Given the description of an element on the screen output the (x, y) to click on. 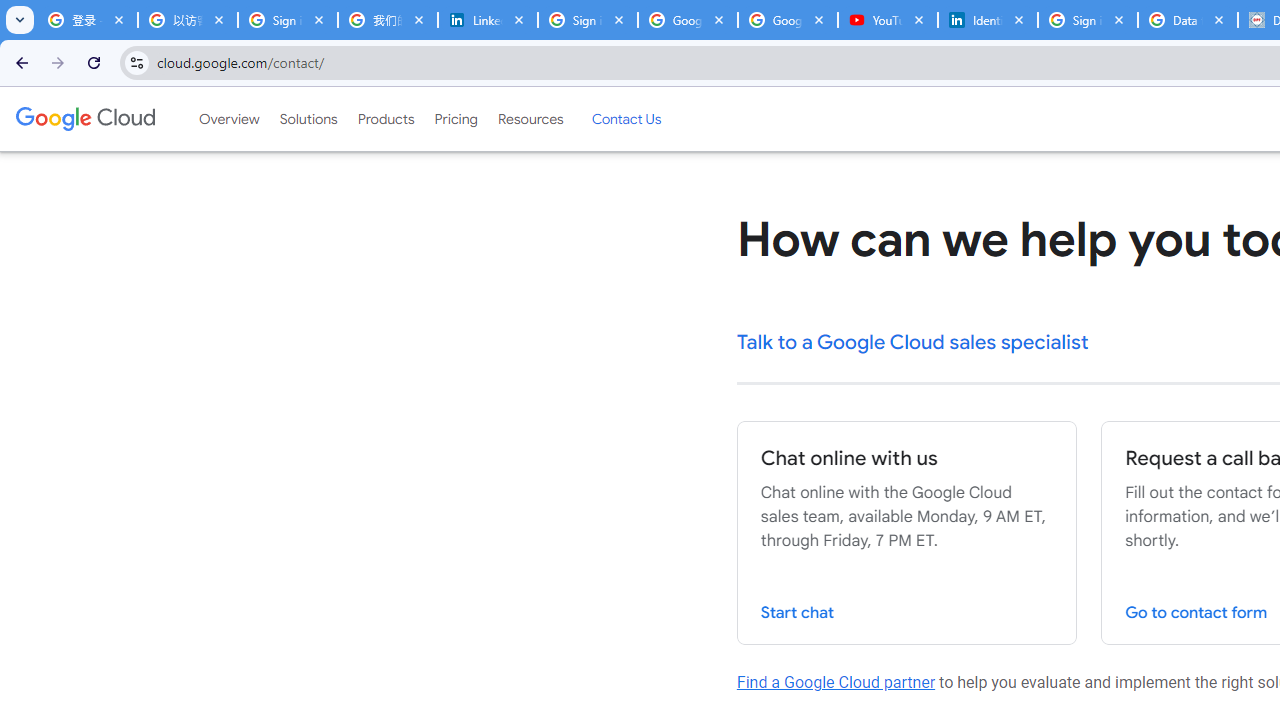
Sign in - Google Accounts (1087, 20)
Solutions (308, 119)
Google Cloud (84, 118)
Sign in - Google Accounts (287, 20)
Pricing (455, 119)
Contact Us (626, 119)
